Given the description of an element on the screen output the (x, y) to click on. 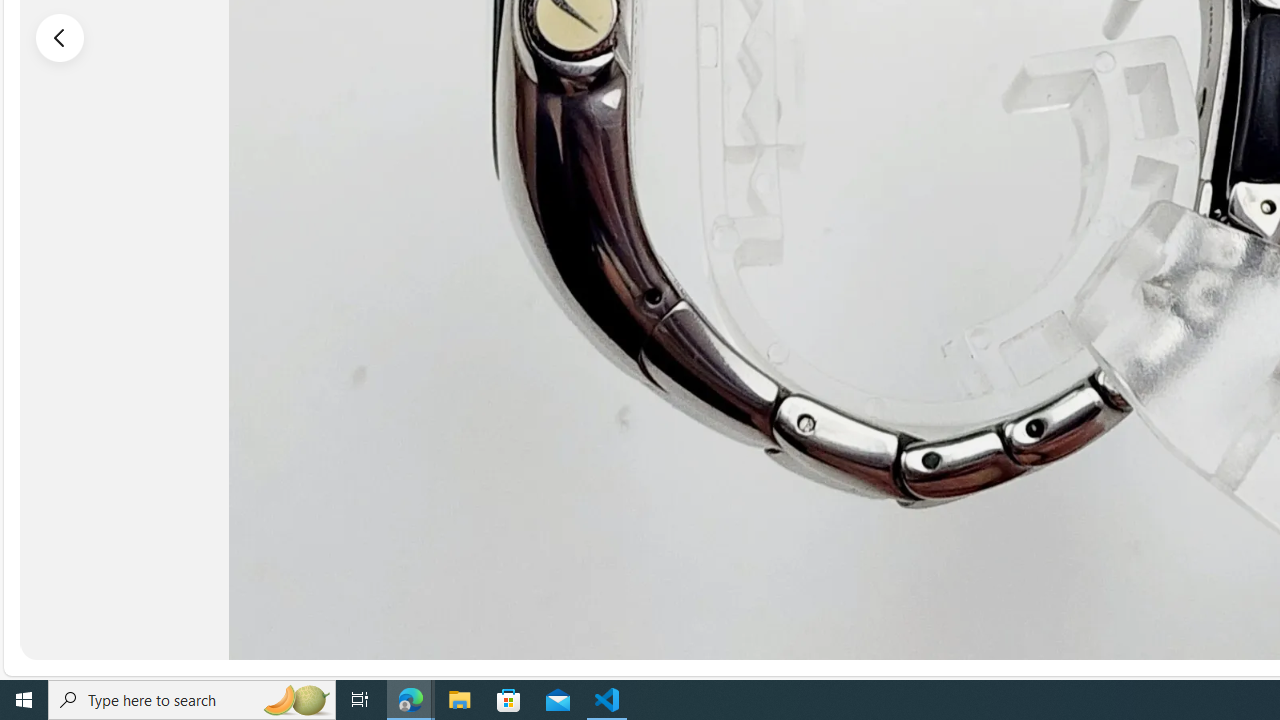
Previous image - Item images thumbnails (59, 37)
